Given the description of an element on the screen output the (x, y) to click on. 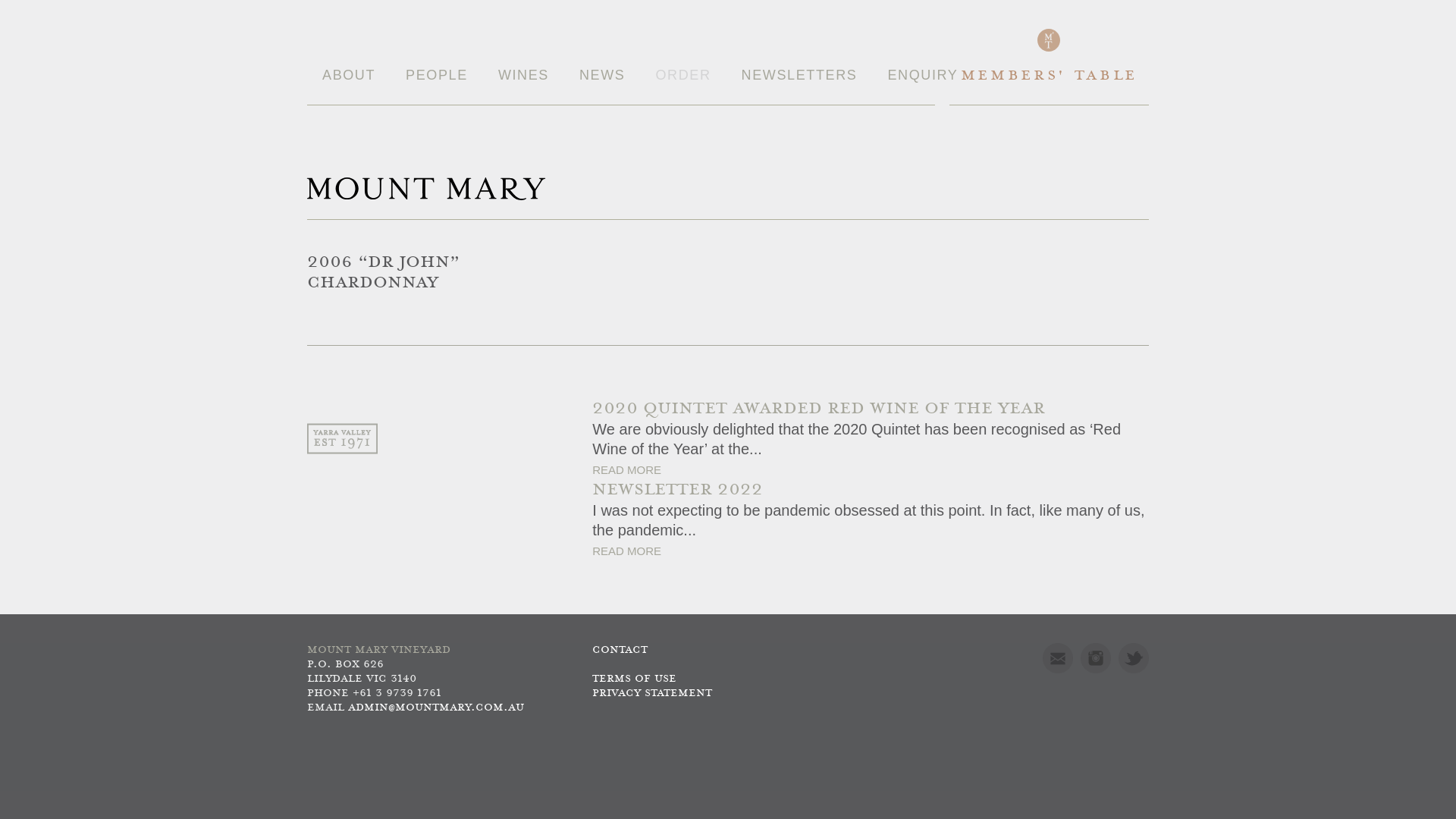
READ MORE Element type: text (626, 469)
MOUNT MARY Element type: text (425, 188)
PRIVACY STATEMENT Element type: text (652, 693)
INSTAGRAM Element type: text (1095, 658)
MAIL Element type: text (1057, 658)
2020 QUINTET AWARDED RED WINE OF THE YEAR Element type: text (870, 408)
ADMIN@MOUNTMARY.COM.AU Element type: text (436, 707)
NEWSLETTER 2022 Element type: text (870, 490)
TERMS OF USE Element type: text (634, 678)
TWITTER Element type: text (1133, 658)
MEMBERS' TABLE Element type: text (1048, 84)
CONTACT Element type: text (619, 650)
READ MORE Element type: text (626, 550)
